Given the description of an element on the screen output the (x, y) to click on. 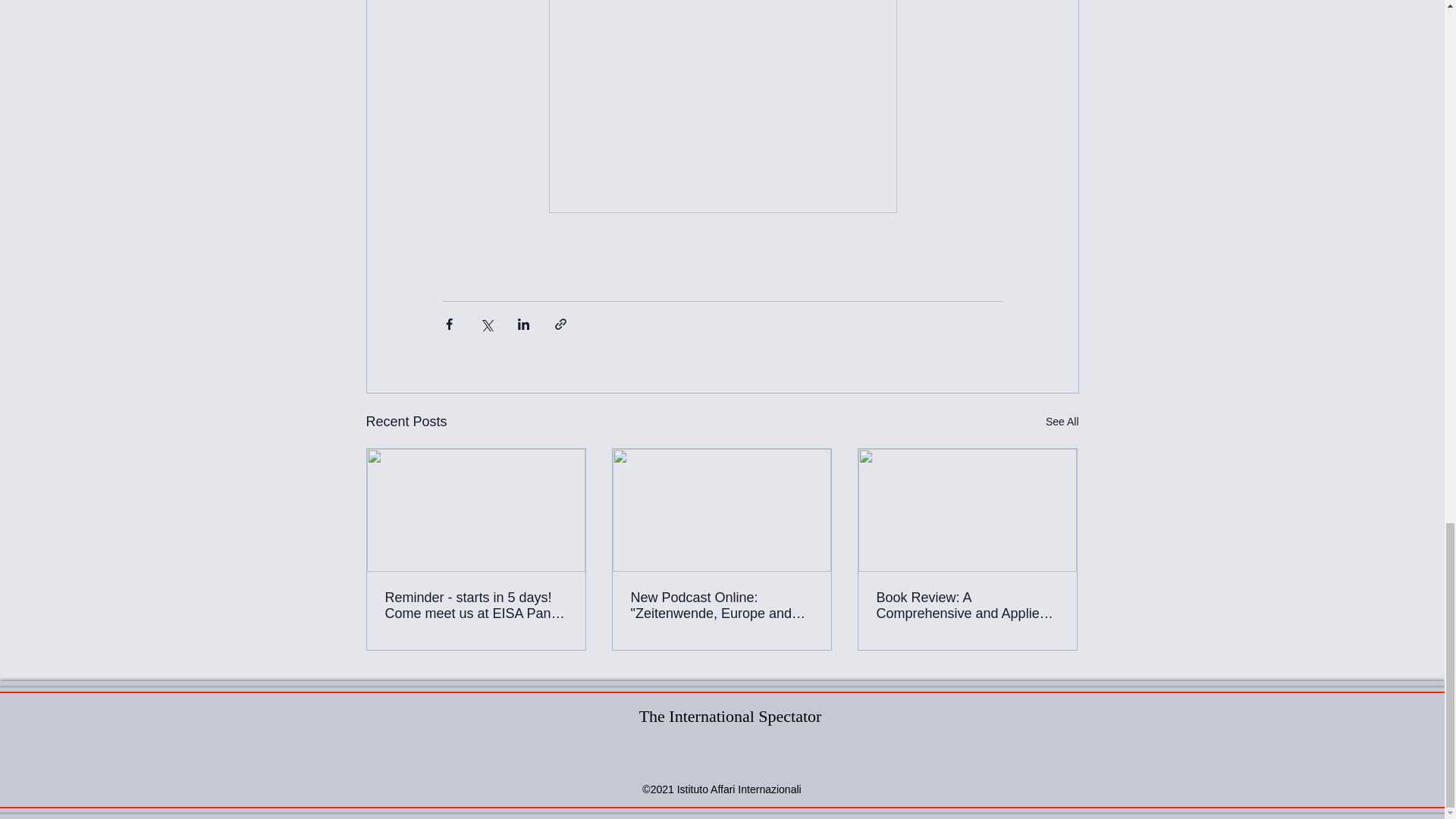
The International Spectator (730, 715)
See All (1061, 422)
